Given the description of an element on the screen output the (x, y) to click on. 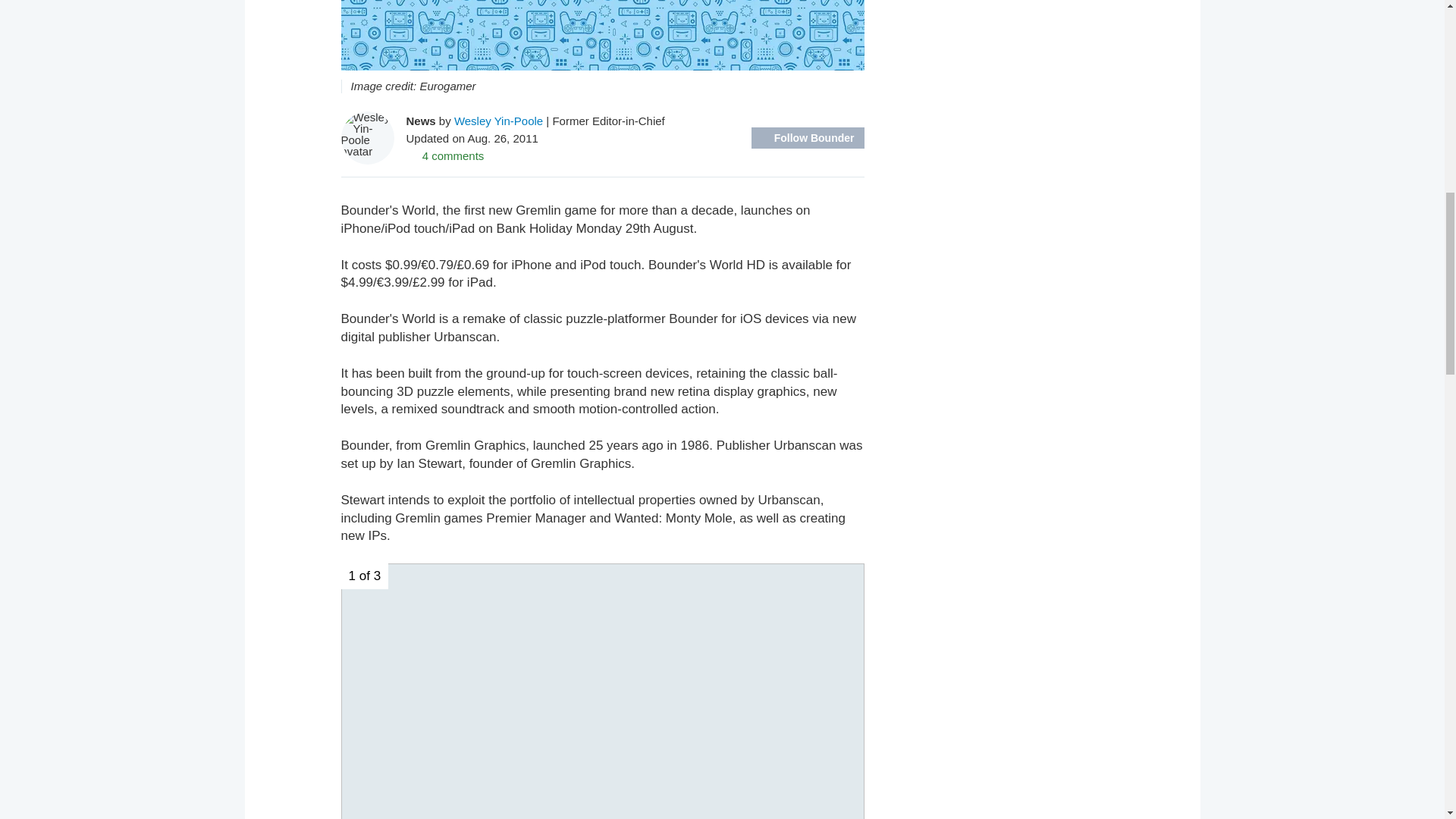
Follow Bounder (807, 137)
Wesley Yin-Poole (498, 119)
4 comments (445, 154)
Follow Bounder (807, 137)
